Given the description of an element on the screen output the (x, y) to click on. 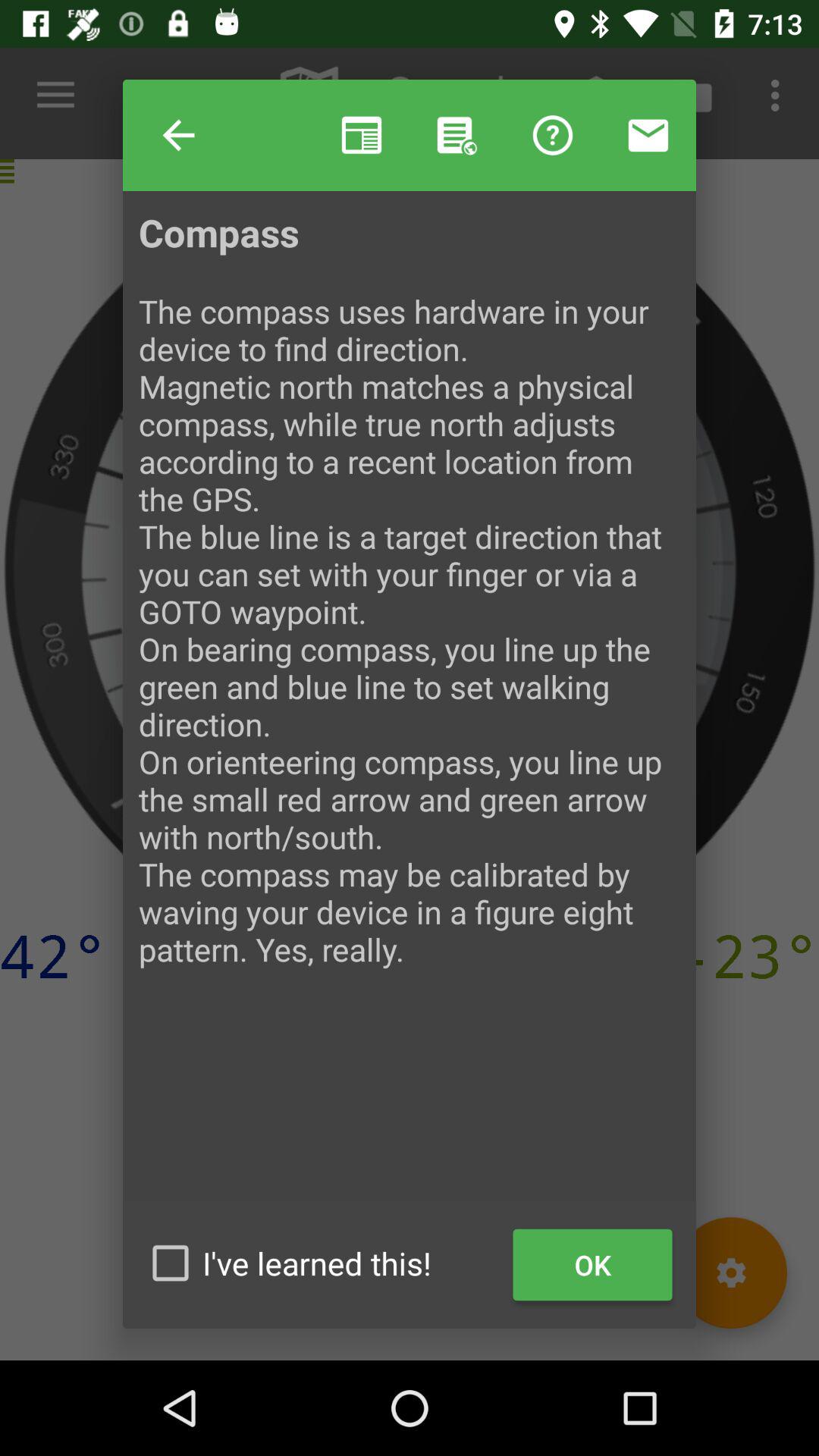
click icon above compass the compass icon (178, 135)
